Given the description of an element on the screen output the (x, y) to click on. 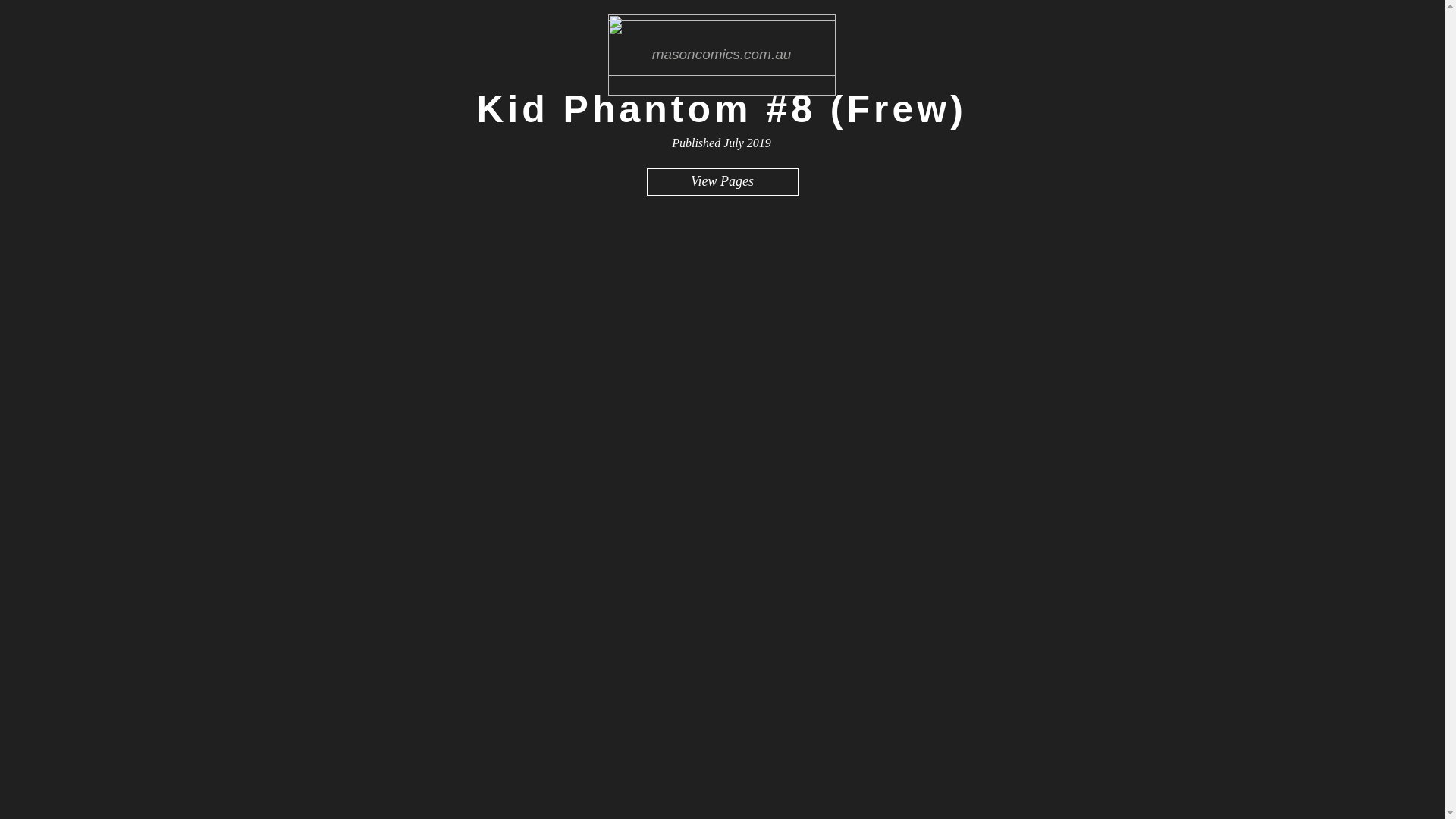
masoncomics.com.au Element type: text (721, 54)
View Pages Element type: text (721, 181)
